Given the description of an element on the screen output the (x, y) to click on. 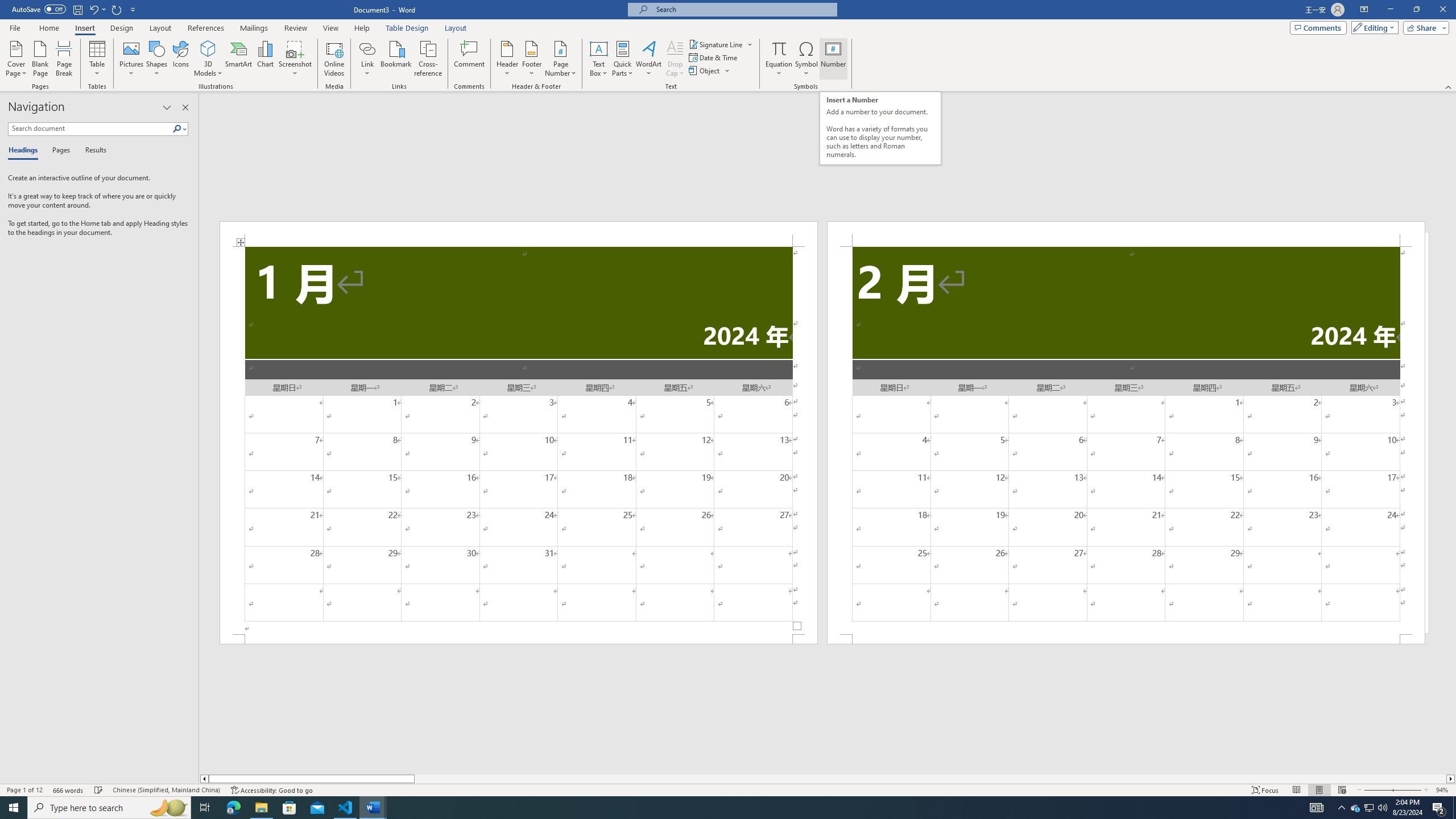
SmartArt... (238, 58)
Class: MsoCommandBar (728, 789)
Text Box (598, 58)
Equation (778, 48)
Pictures (131, 58)
Table Design (407, 28)
Icons (180, 58)
Header -Section 1- (518, 233)
Footer -Section 1- (518, 638)
